Given the description of an element on the screen output the (x, y) to click on. 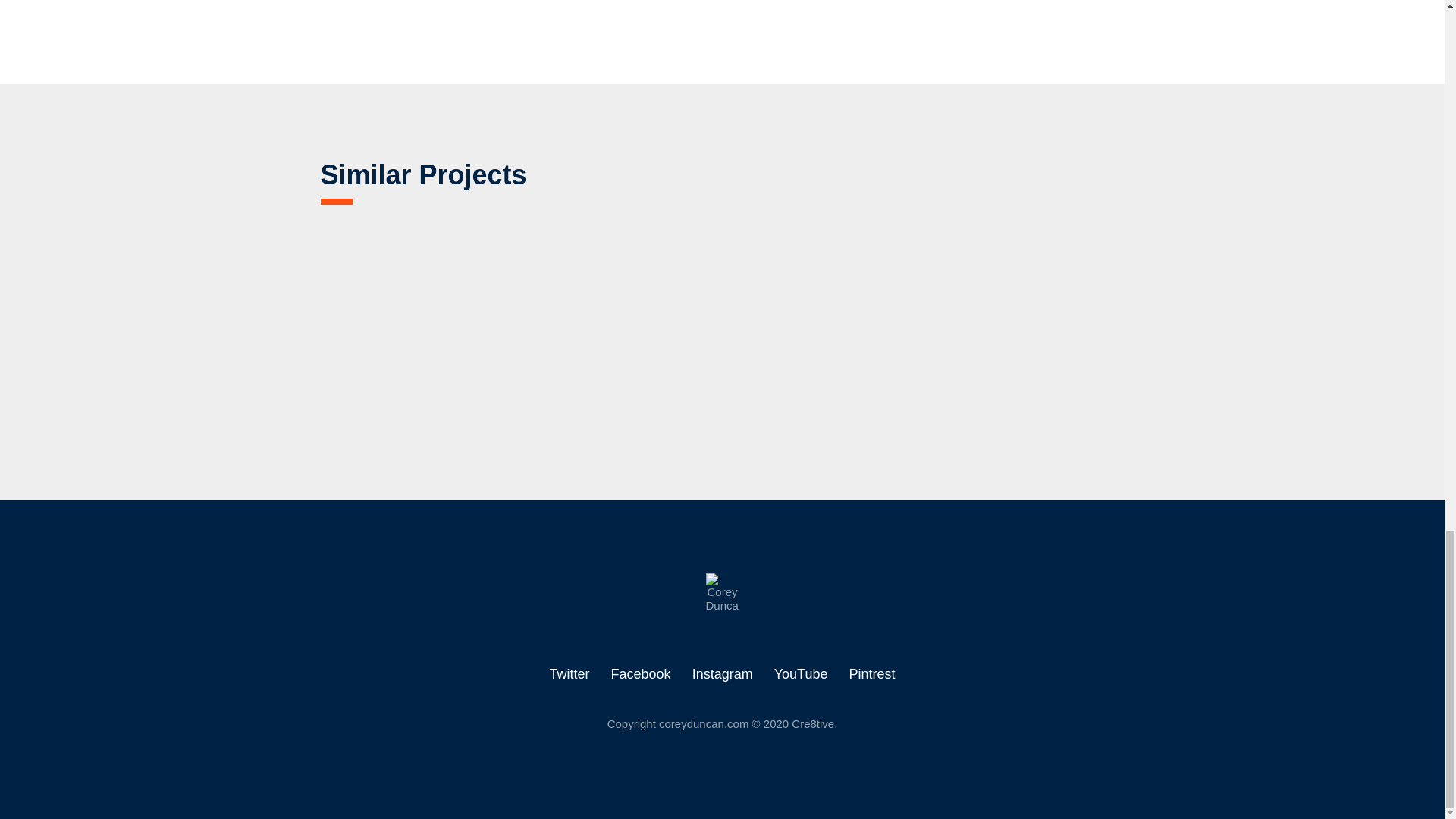
coreyduncan.com (703, 723)
Instagram (722, 673)
YouTube (801, 673)
Cre8tive (721, 592)
YouTube (801, 673)
Twitter (569, 673)
Jamba Juice Promotion (420, 320)
Visa 2006 4Q Promotion (822, 320)
Pintrest (871, 673)
Visa 2005 4Q Promotion (621, 320)
